Given the description of an element on the screen output the (x, y) to click on. 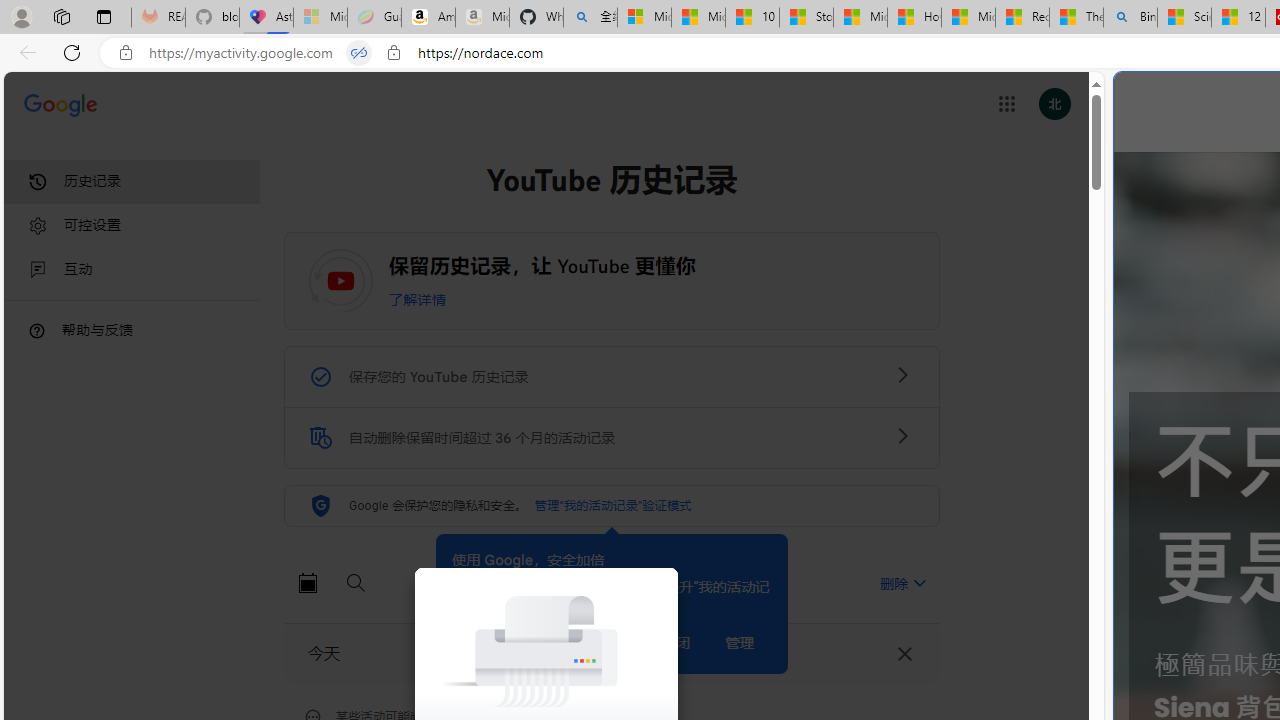
Tabs in split screen (358, 53)
